Given the description of an element on the screen output the (x, y) to click on. 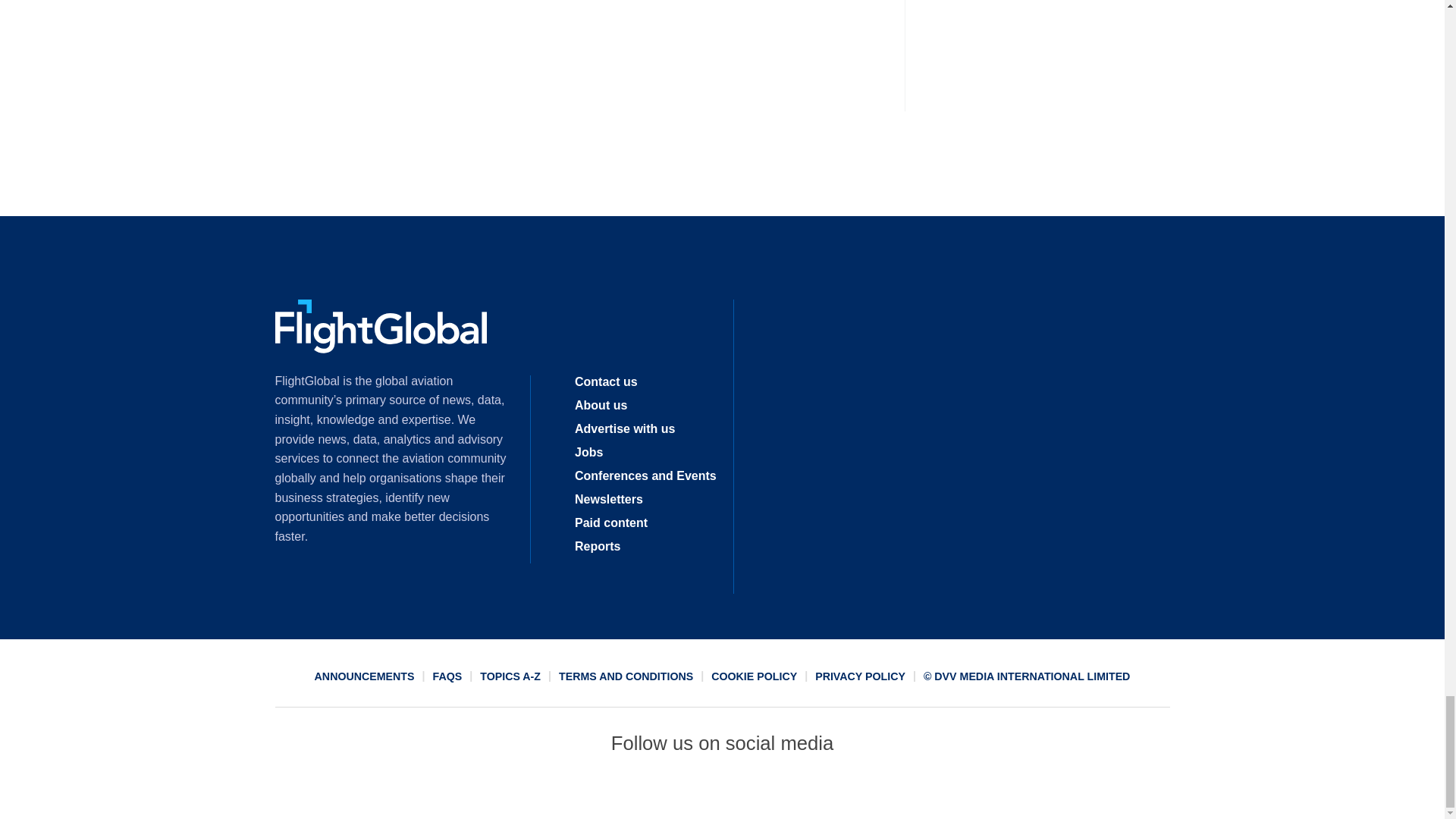
Email us (776, 791)
Connect with us on Youtube (831, 791)
Connect with us on Facebook (611, 791)
Connect with us on Twitter (667, 791)
Connect with us on Linked In (721, 791)
